Given the description of an element on the screen output the (x, y) to click on. 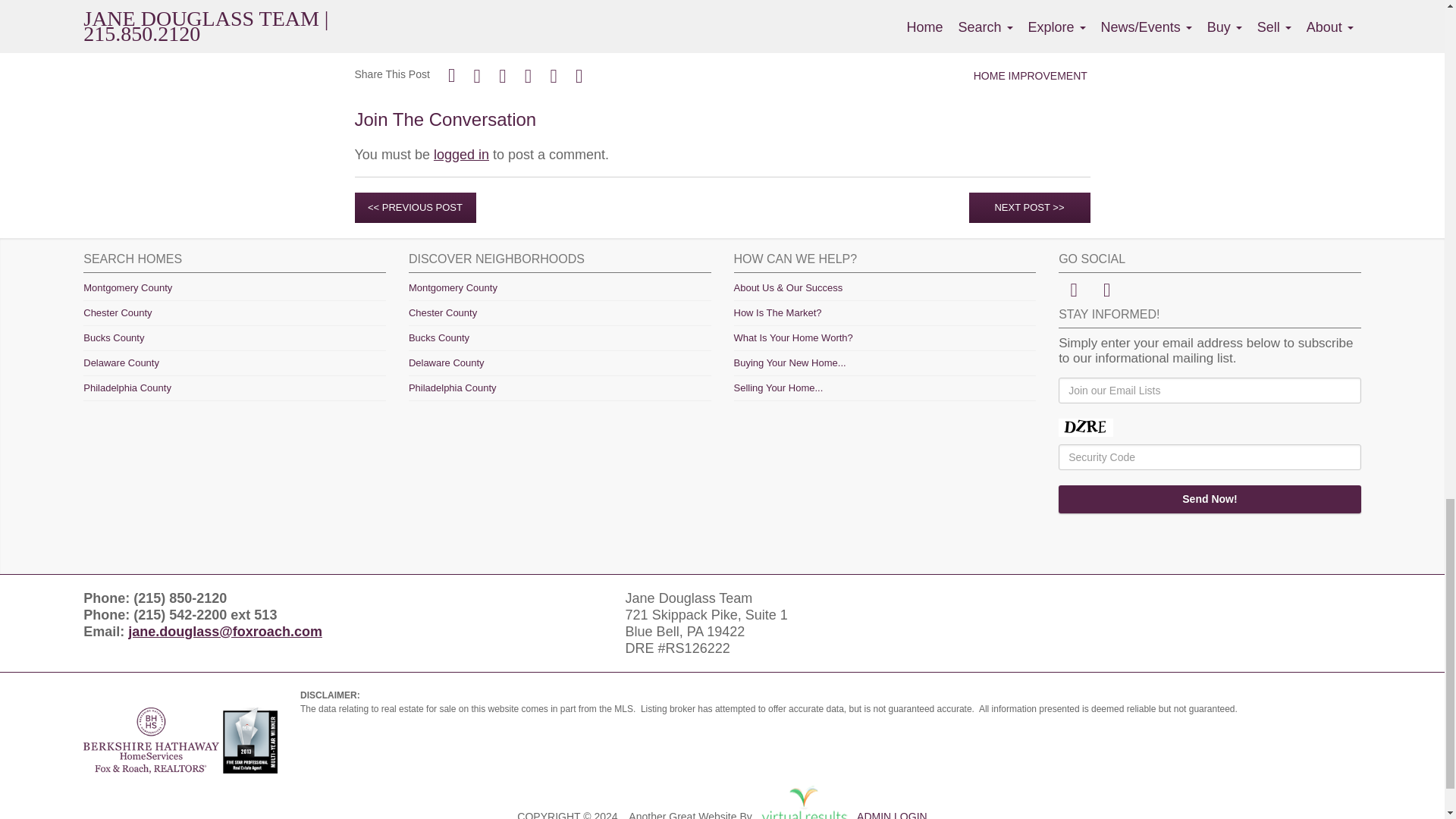
Send Now! (1209, 498)
Share on LinkedIn (579, 75)
Your Lease Is Up? Here Are 3 Good Reasons to Renew (524, 11)
4 Tips for Making Any Room Seem Larger (485, 33)
